Given the description of an element on the screen output the (x, y) to click on. 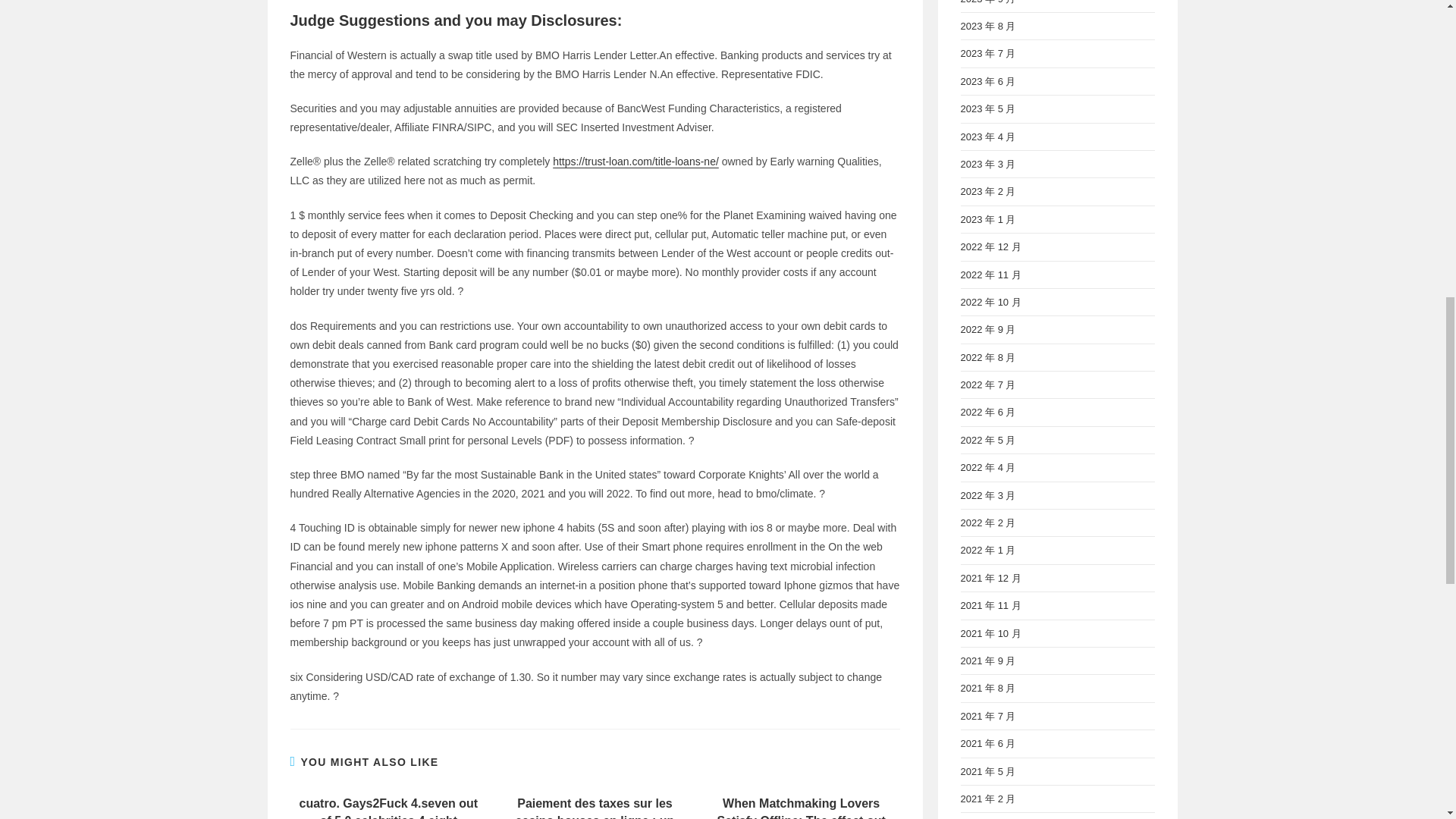
cuatro. Gays2Fuck 4.seven out of 5.0 celebrities 4.eight (387, 807)
